Given the description of an element on the screen output the (x, y) to click on. 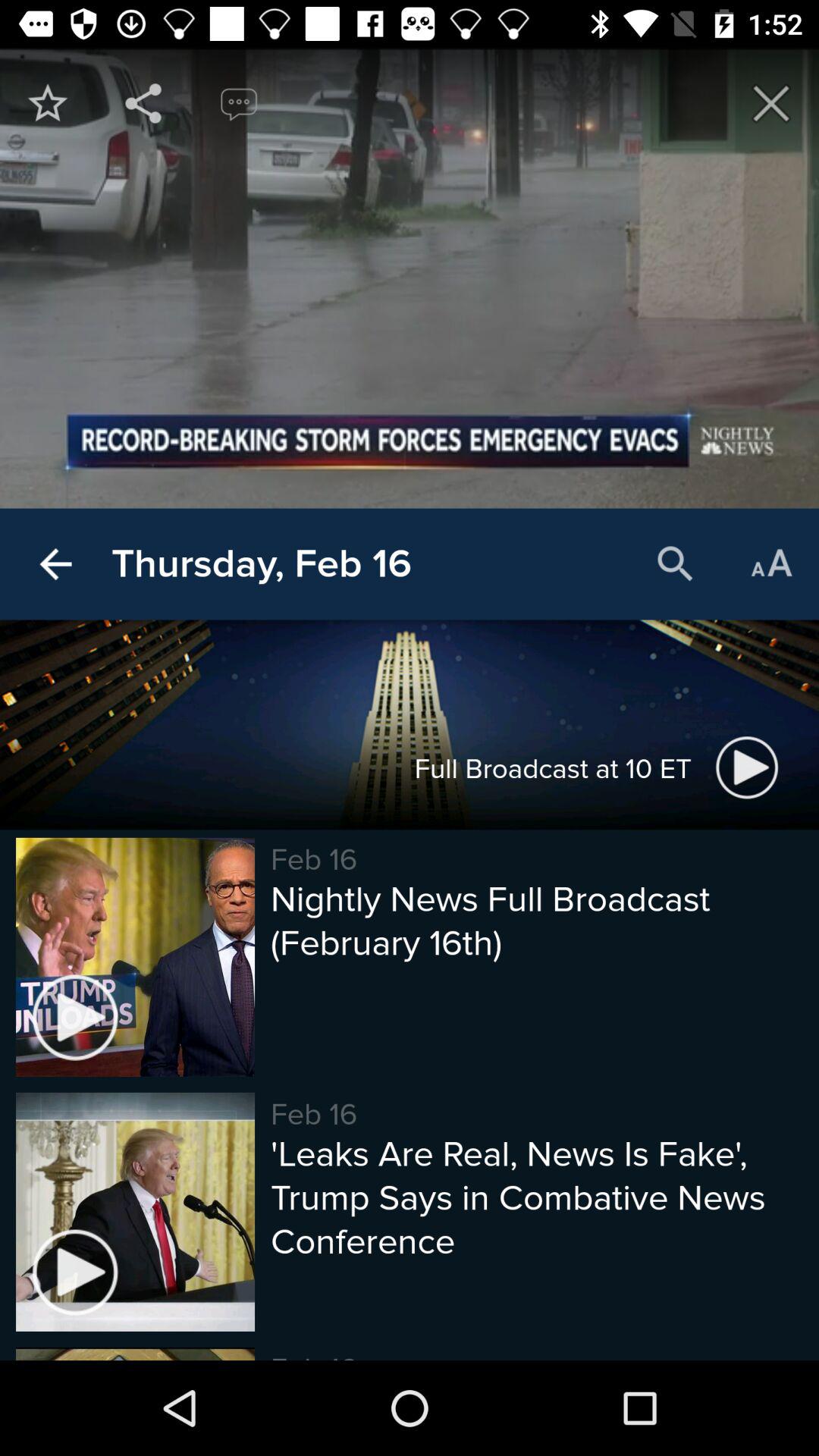
launch the icon to the left of the thursday, feb 16 item (55, 563)
